Given the description of an element on the screen output the (x, y) to click on. 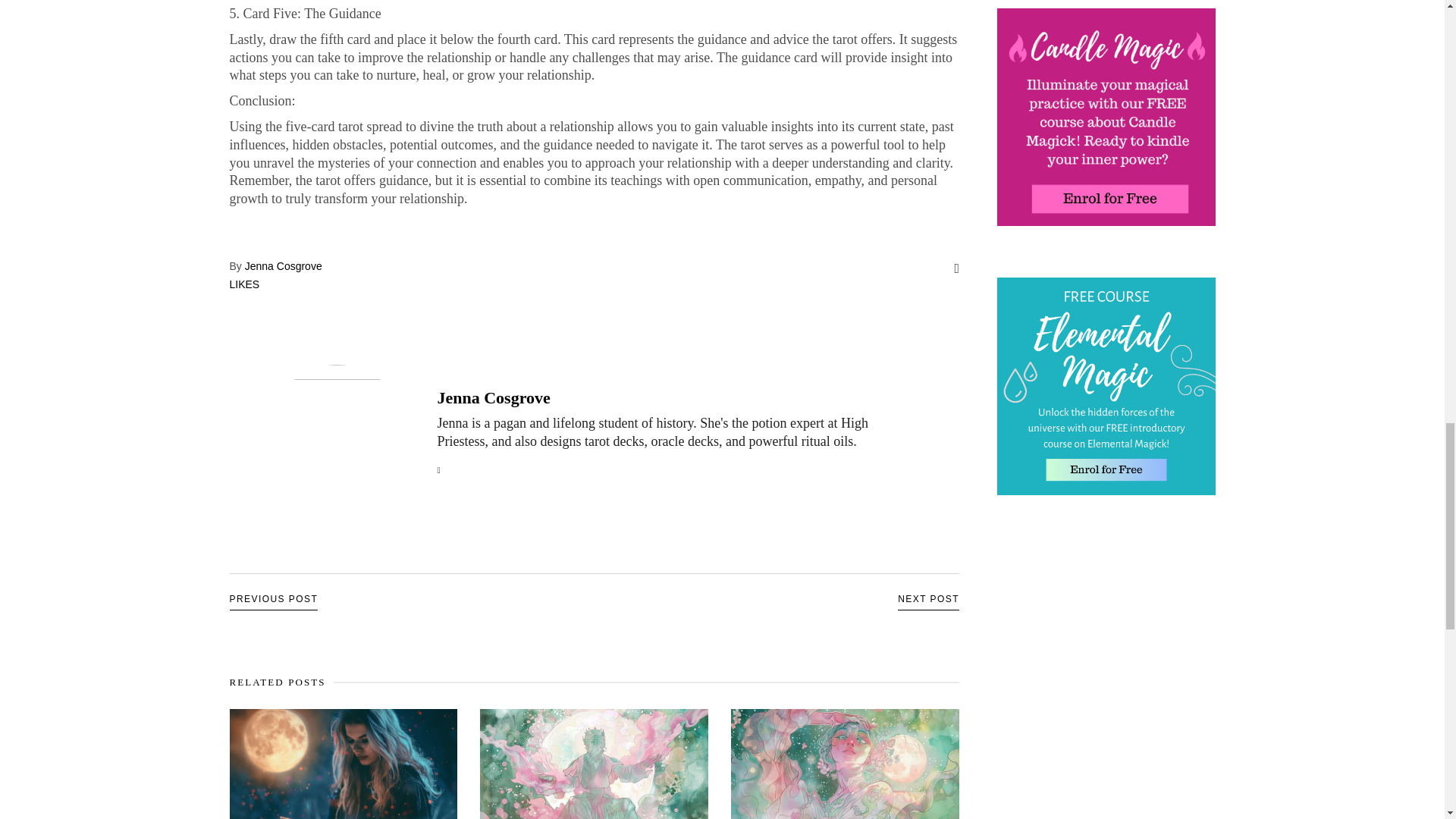
Moon Phase Tarot (342, 764)
A Tarot Spread for Unveiling Relationship Truths (336, 434)
Tarot Tales: The Empress (844, 764)
A Tarot Spread for Unveiling Relationship Truths (493, 397)
Like this (243, 284)
Tarot Tales: The Emperor (593, 764)
